Given the description of an element on the screen output the (x, y) to click on. 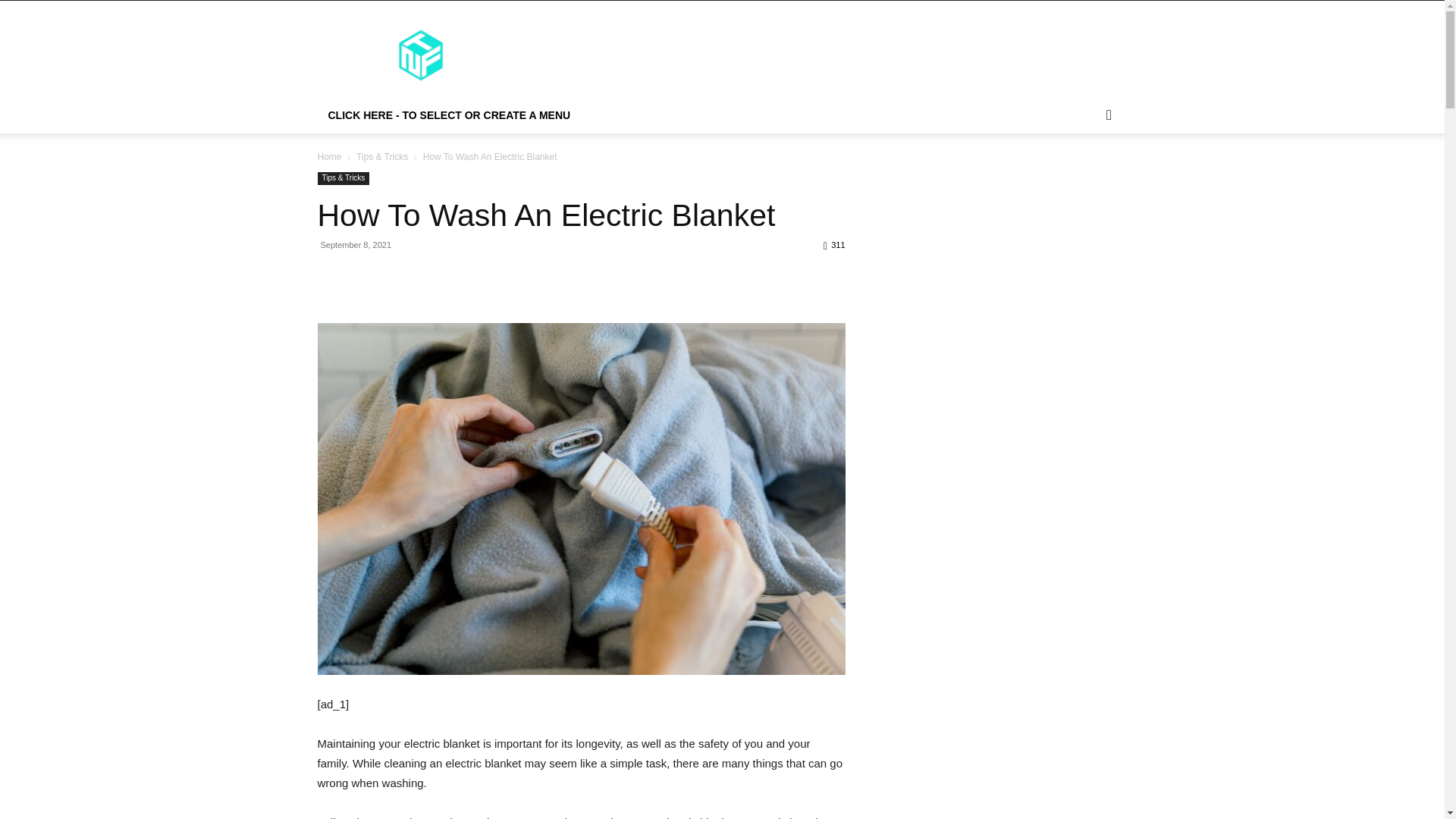
Home (328, 156)
CLICK HERE - TO SELECT OR CREATE A MENU (448, 114)
Search (1085, 175)
